Given the description of an element on the screen output the (x, y) to click on. 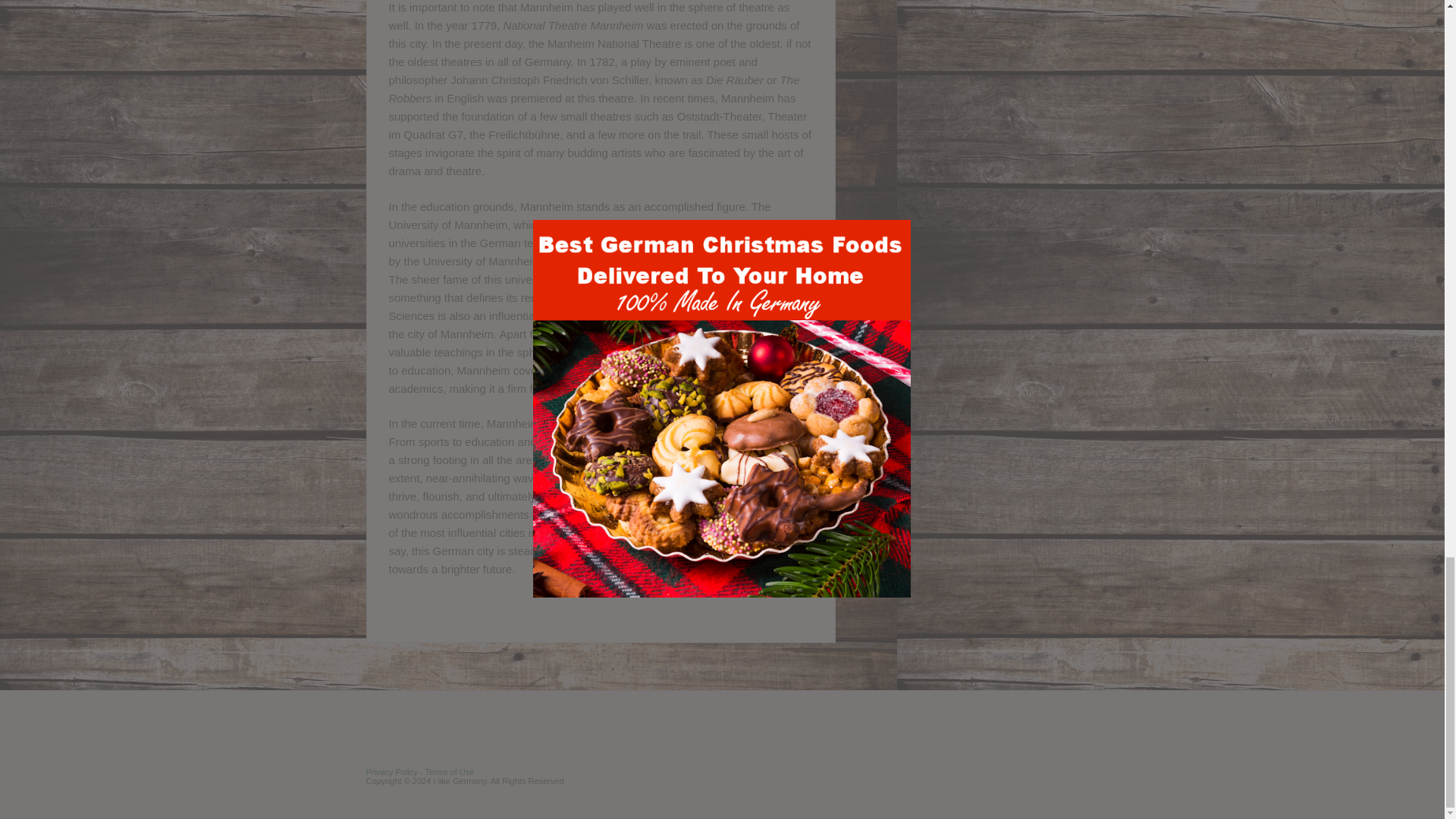
Privacy Policy (390, 771)
Terms of Use (449, 771)
